Given the description of an element on the screen output the (x, y) to click on. 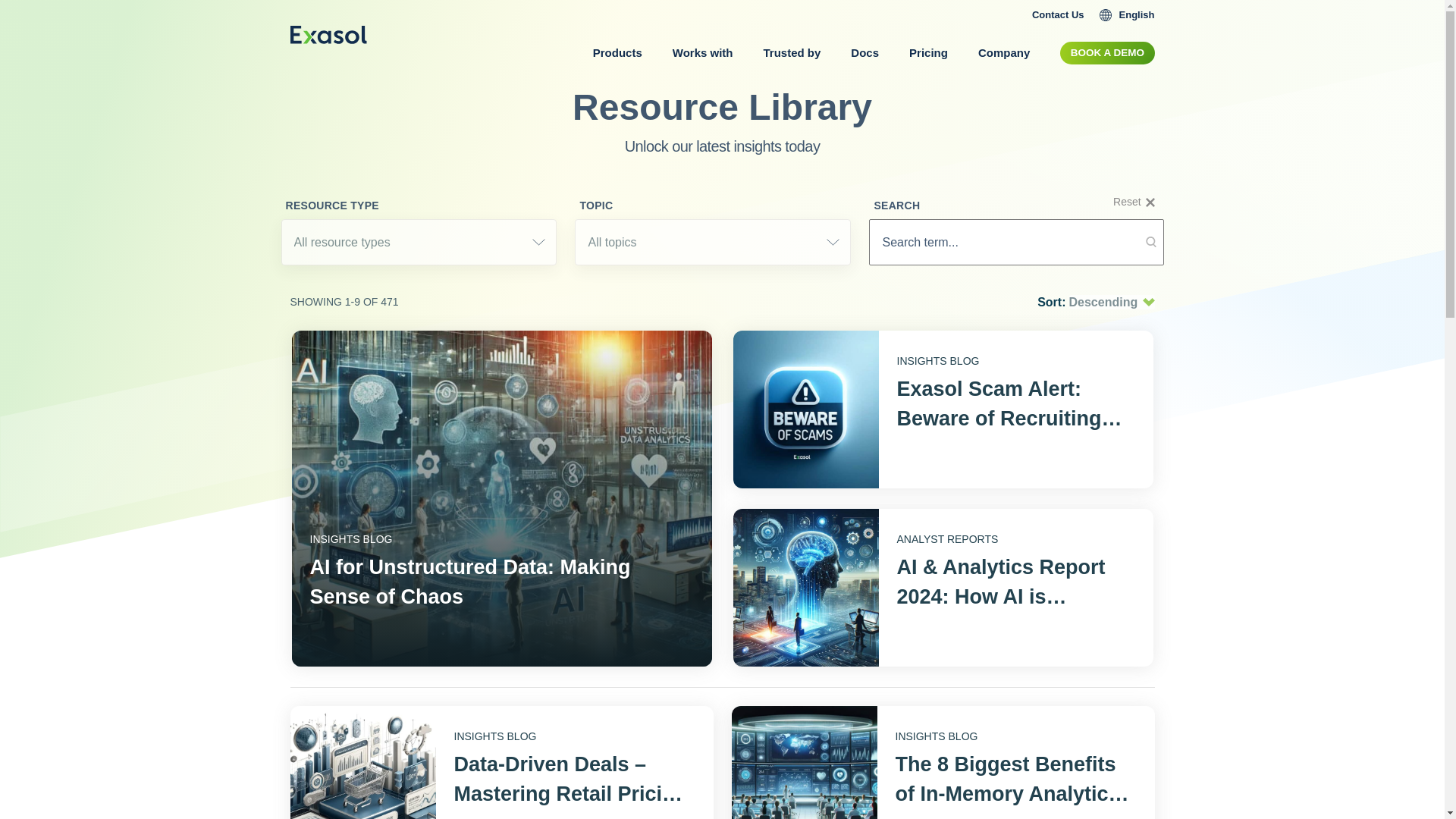
Docs (864, 53)
Trusted by (791, 53)
English (1126, 14)
Contact Us (1058, 15)
Works with (703, 53)
Products (618, 53)
